Given the description of an element on the screen output the (x, y) to click on. 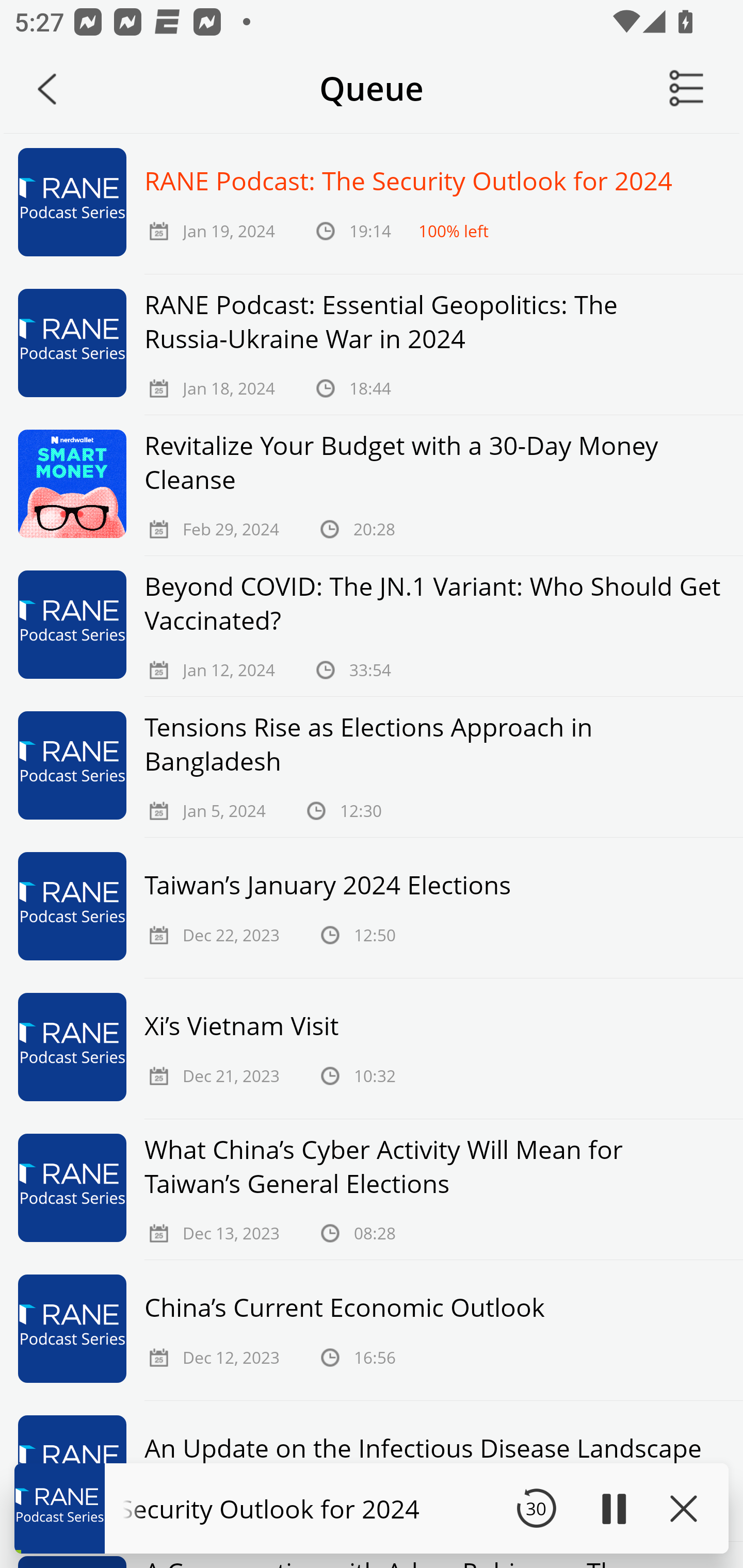
Back (46, 88)
Taiwan’s January 2024 Elections Dec 22, 2023 12:50 (371, 907)
Xi’s Vietnam Visit Dec 21, 2023 10:32 (371, 1048)
Play (613, 1507)
30 Seek Backward (536, 1508)
